Given the description of an element on the screen output the (x, y) to click on. 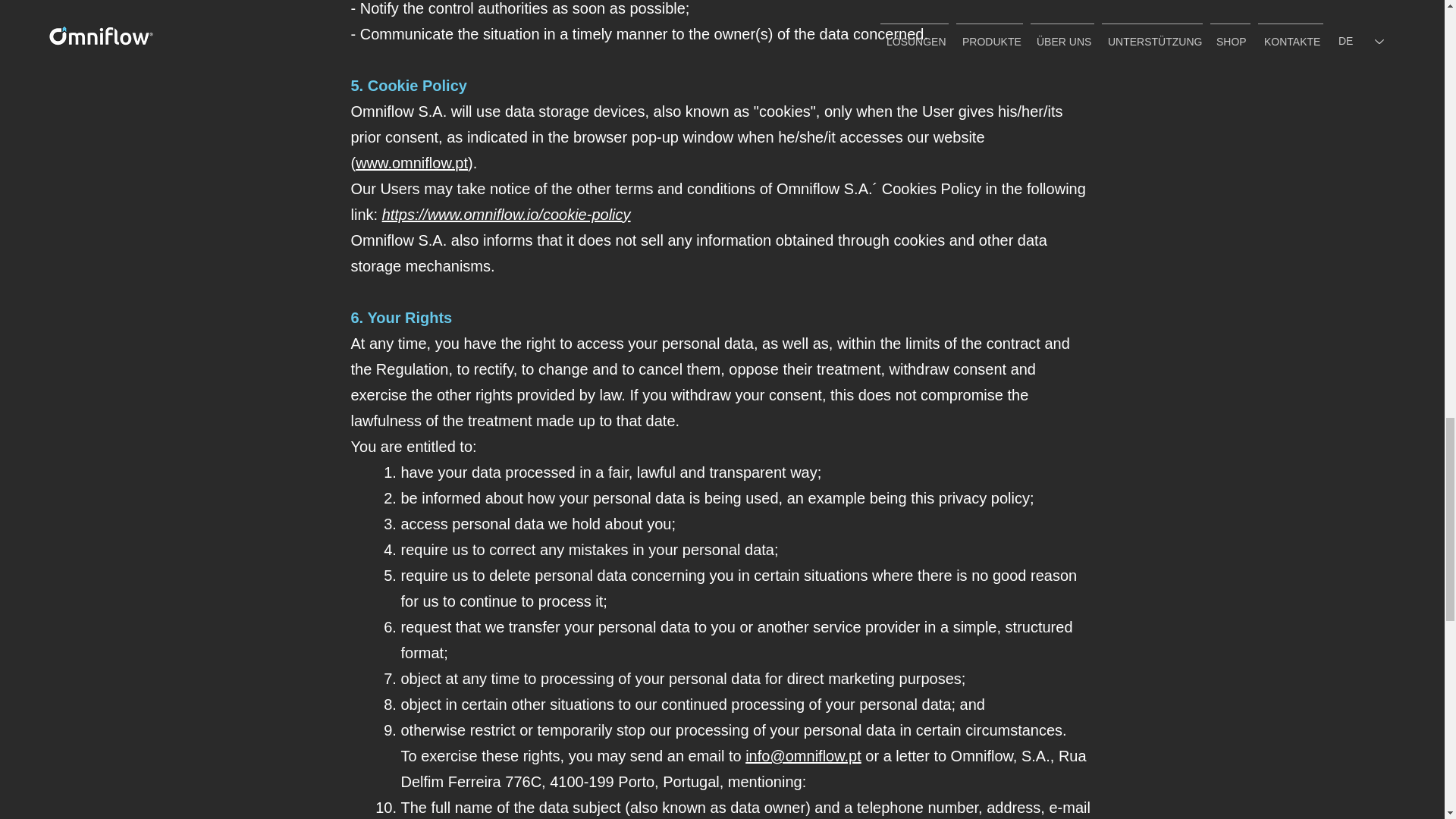
www.omniflow.pt (411, 162)
